Given the description of an element on the screen output the (x, y) to click on. 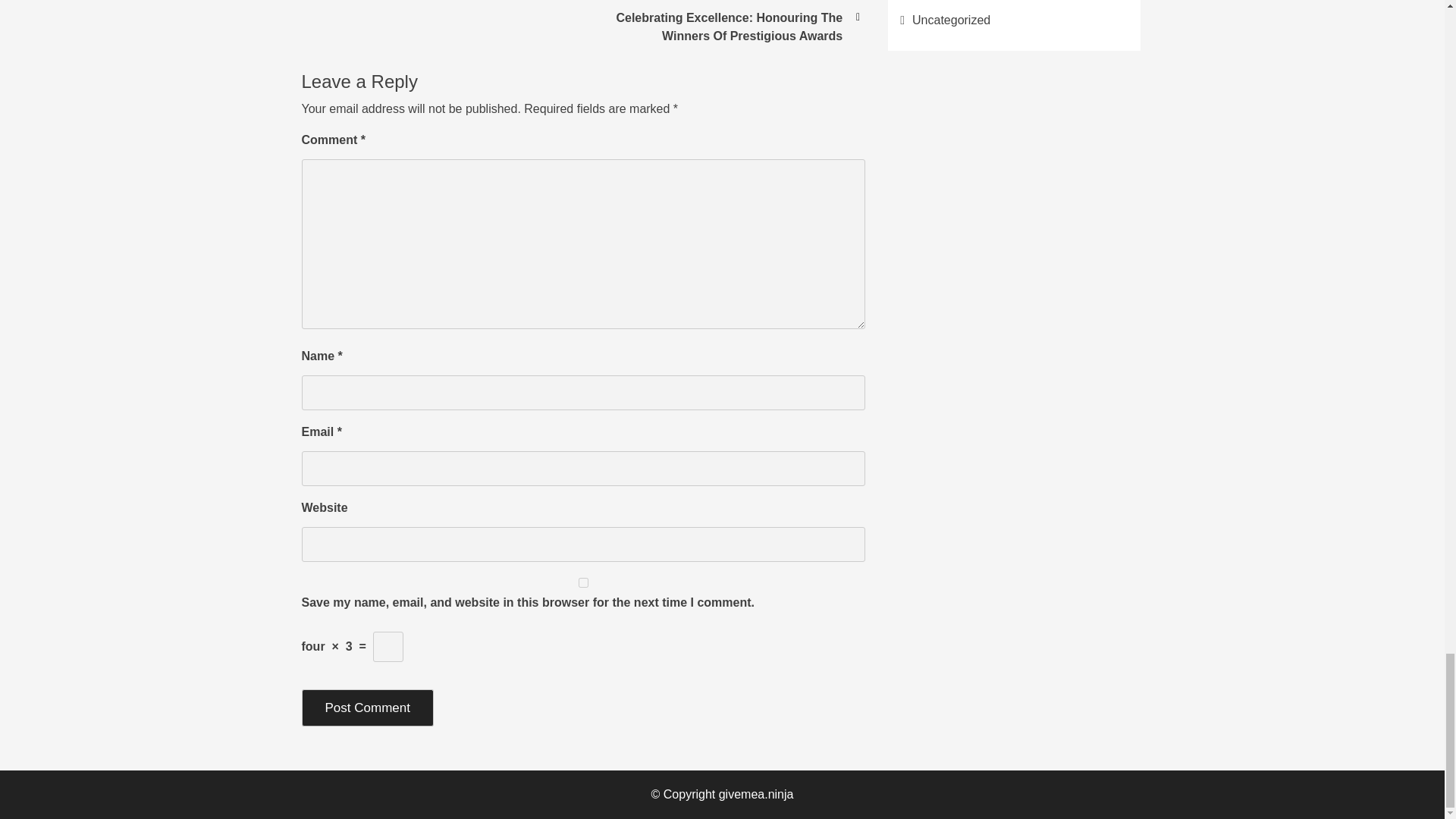
Post Comment (367, 707)
yes (583, 583)
Post Comment (367, 707)
